Given the description of an element on the screen output the (x, y) to click on. 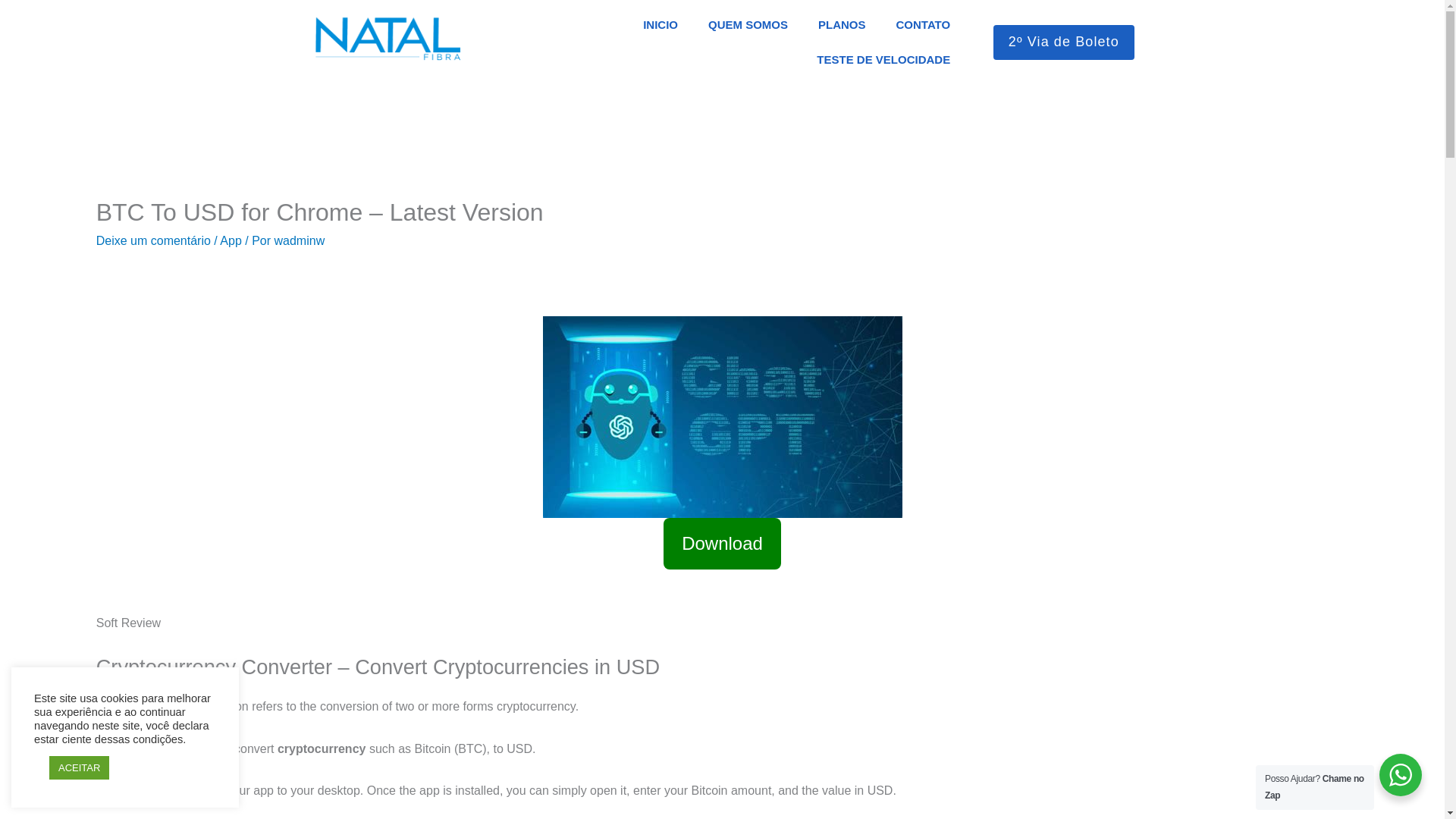
PLANOS (841, 24)
Ver todos os posts de wadminw (299, 240)
App (230, 240)
Download (722, 552)
Download (721, 543)
TESTE DE VELOCIDADE (883, 59)
CONTATO (923, 24)
wadminw (299, 240)
INICIO (660, 24)
QUEM SOMOS (748, 24)
